Given the description of an element on the screen output the (x, y) to click on. 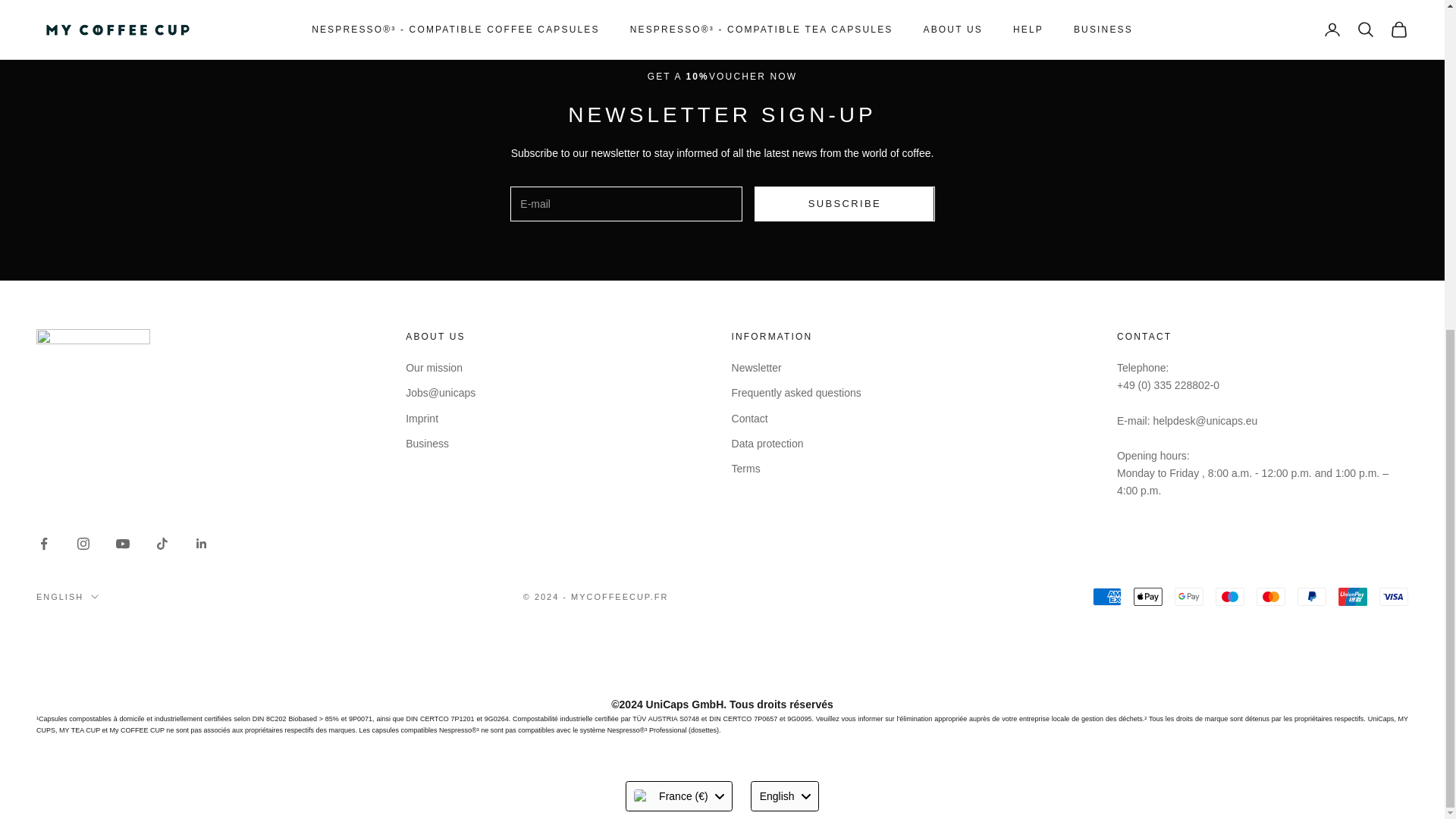
Imprint (422, 418)
Our mission (434, 367)
SUBSCRIBE (844, 203)
